Given the description of an element on the screen output the (x, y) to click on. 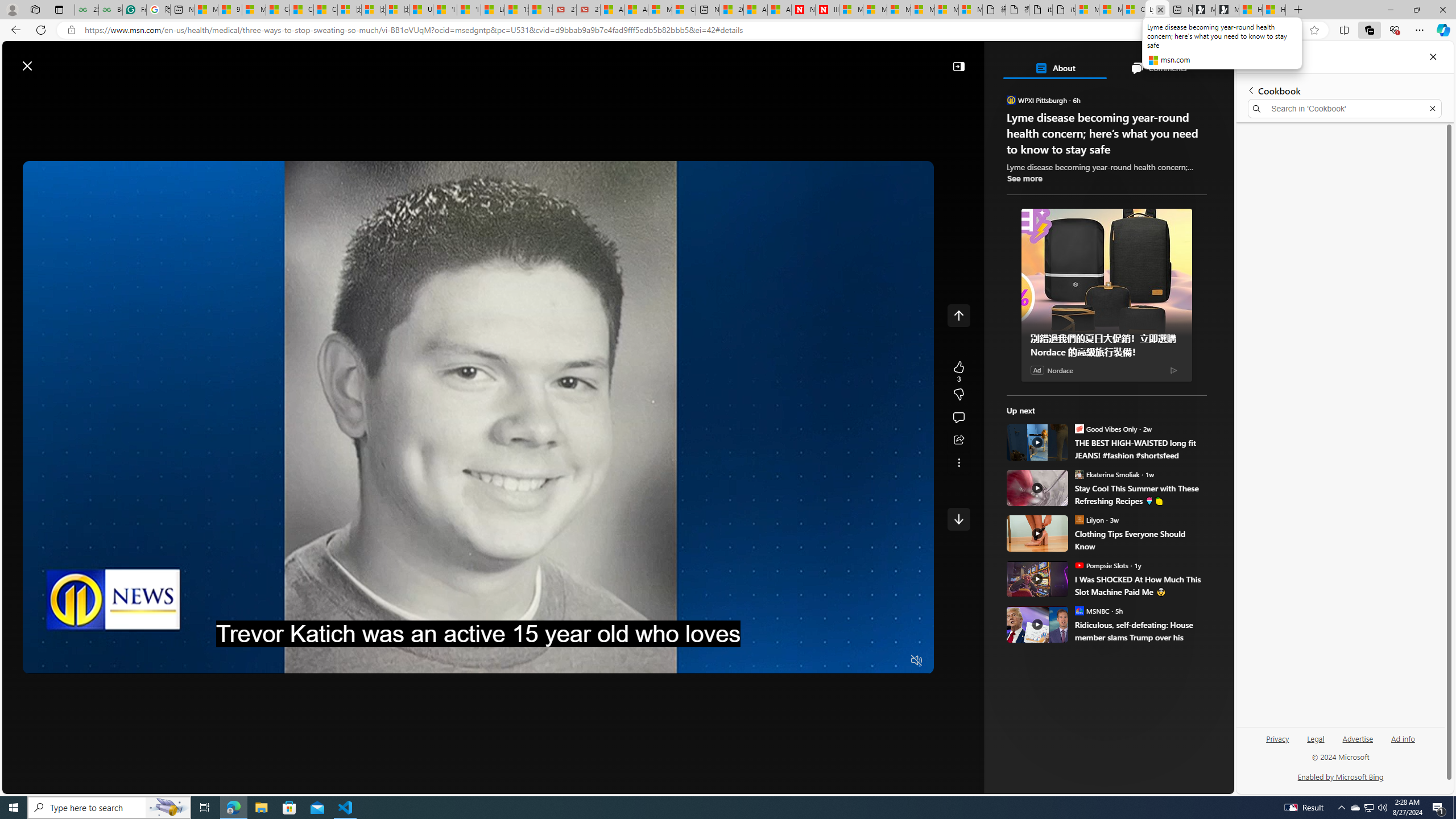
Exit search (1432, 108)
Open Copilot (819, 59)
THE BEST HIGH-WAISTED long fit JEANS! #fashion #shortsfeed (1037, 442)
Advertise (1358, 742)
Search in 'Cookbook' (1345, 108)
Following (264, 92)
Privacy (1278, 738)
See more (1024, 178)
